Given the description of an element on the screen output the (x, y) to click on. 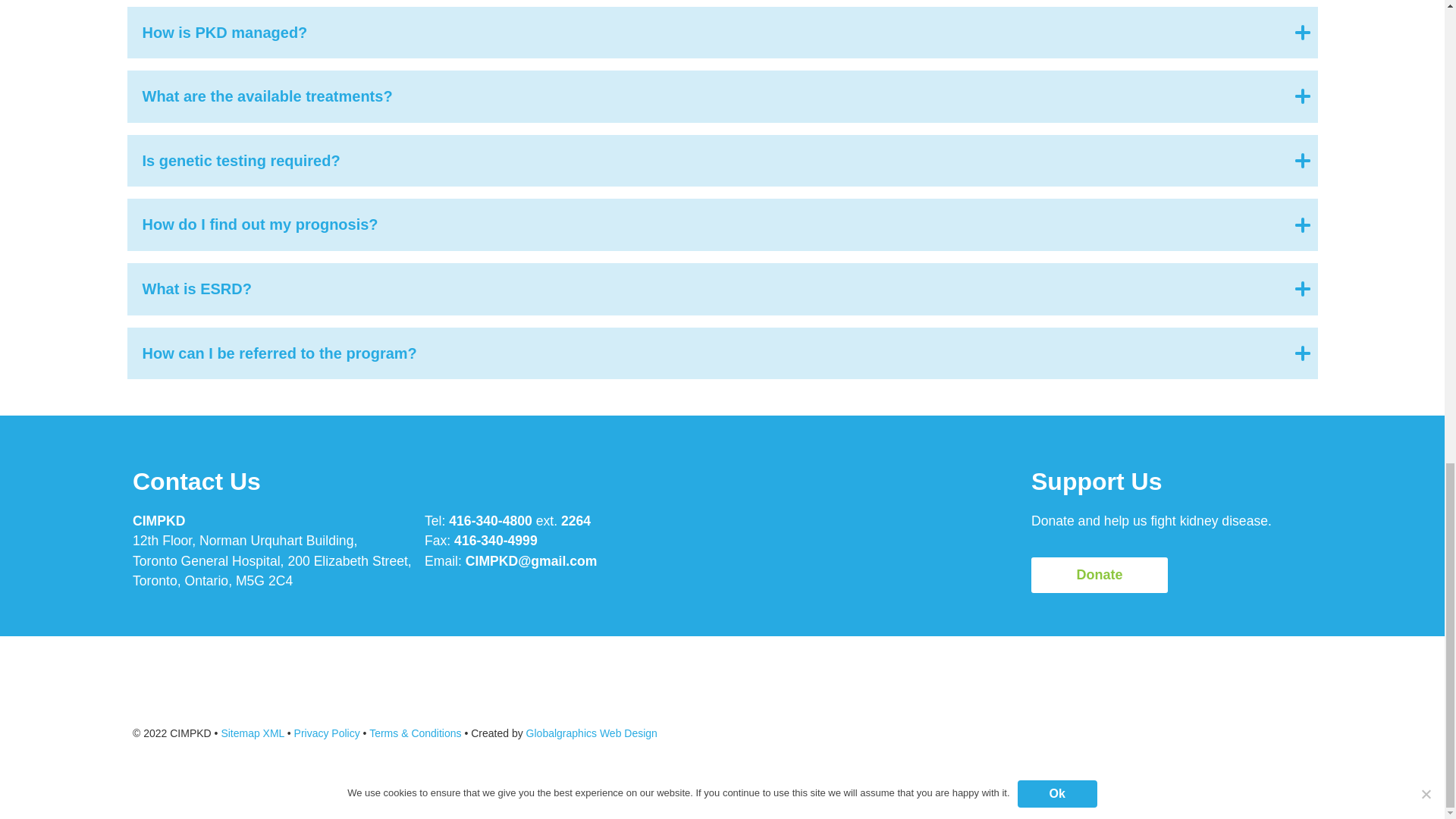
Donate (1098, 574)
Globalgraphics Web Design (591, 733)
uhn-logo (1242, 727)
Sitemap XML (252, 733)
Globalgraphics Web Design (591, 733)
Privacy Policy (326, 733)
